Given the description of an element on the screen output the (x, y) to click on. 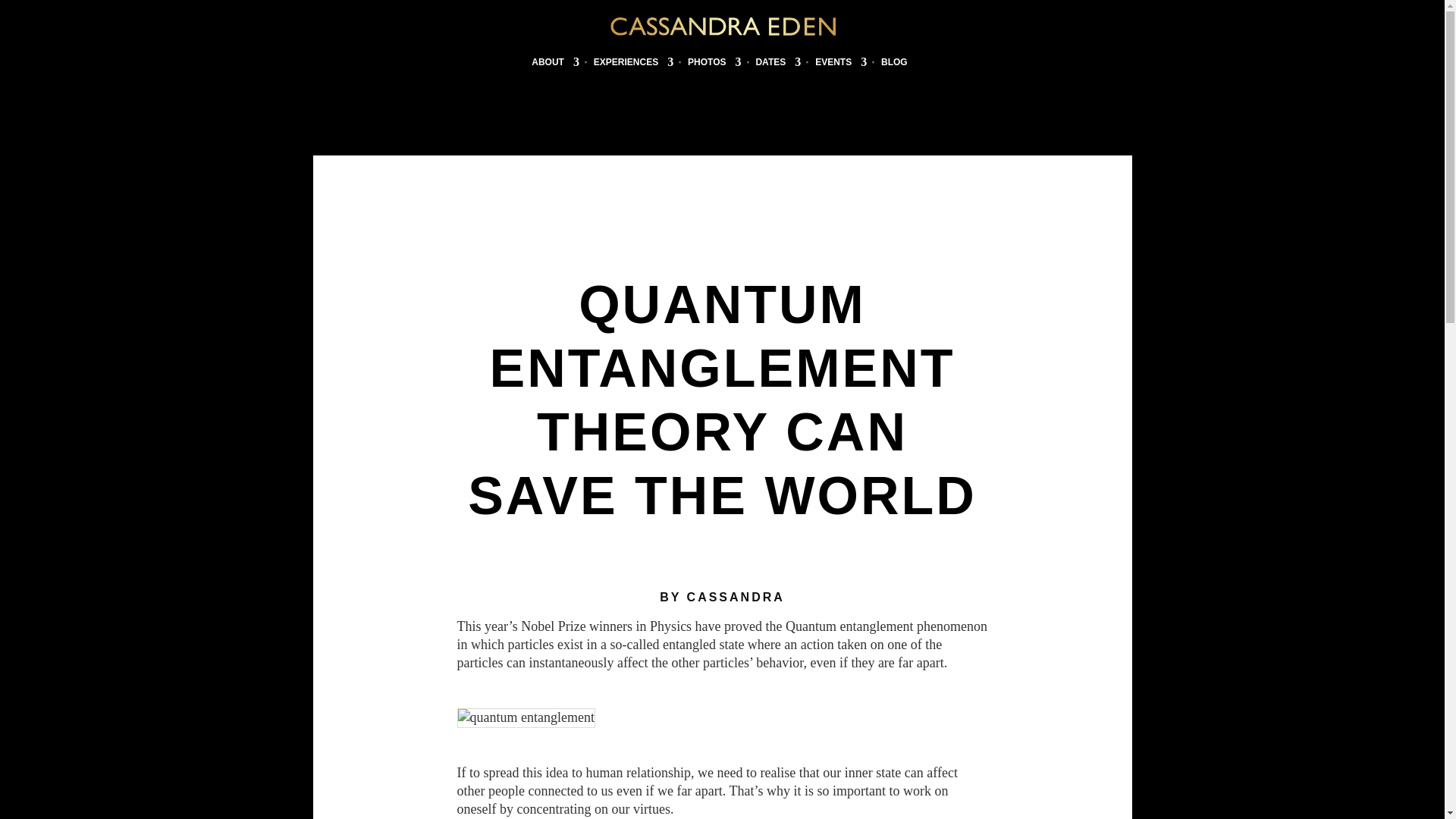
ABOUT (555, 64)
CASSANDRA (735, 596)
BLOG (893, 64)
PHOTOS (714, 64)
DATES (777, 64)
EXPERIENCES (633, 64)
EVENTS (840, 64)
